Given the description of an element on the screen output the (x, y) to click on. 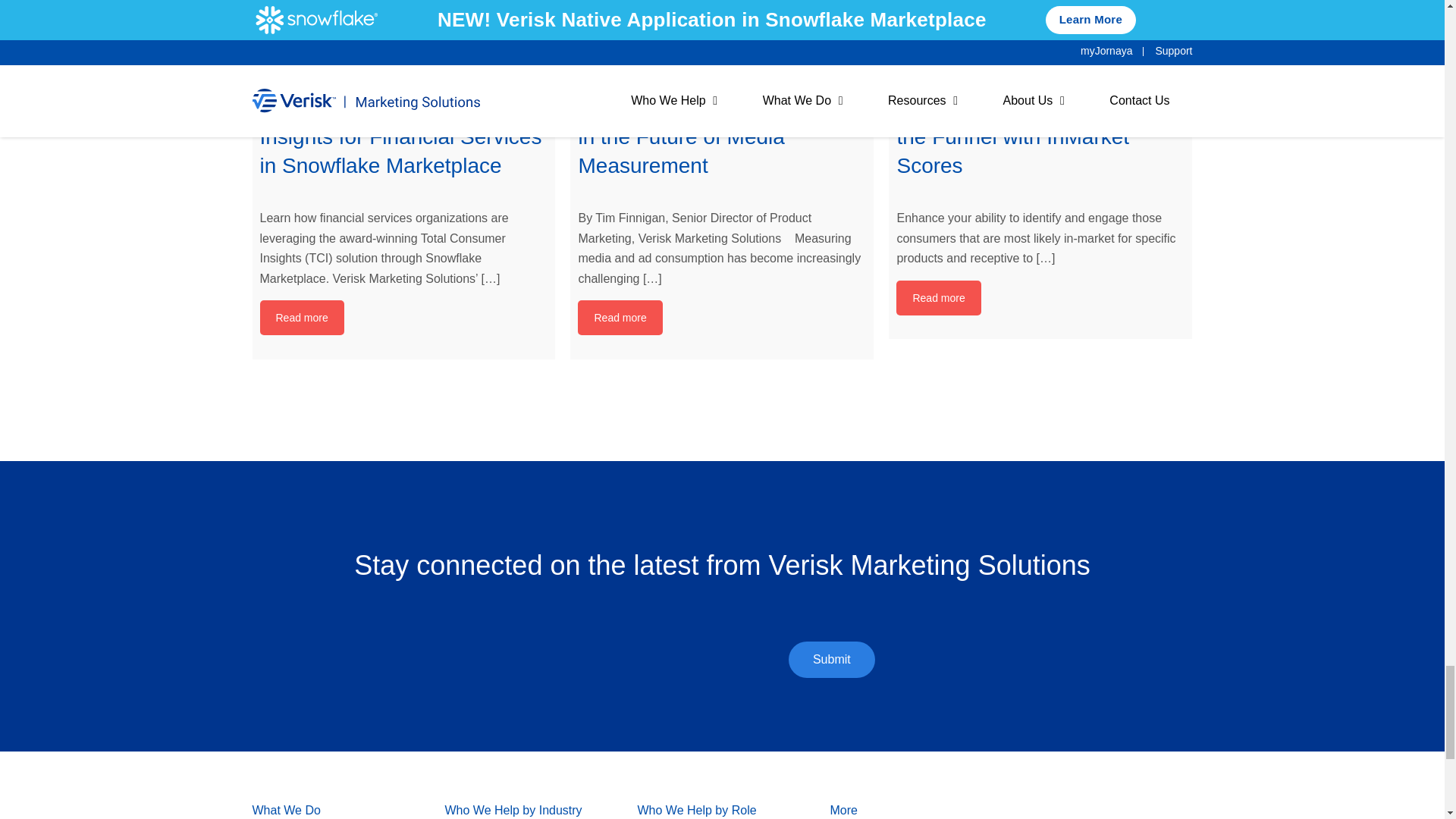
Read more (301, 317)
Identify Shoppers Earlier in the Funnel with InMarket Scores (1040, 29)
Read more (620, 317)
Read more (937, 297)
